Given the description of an element on the screen output the (x, y) to click on. 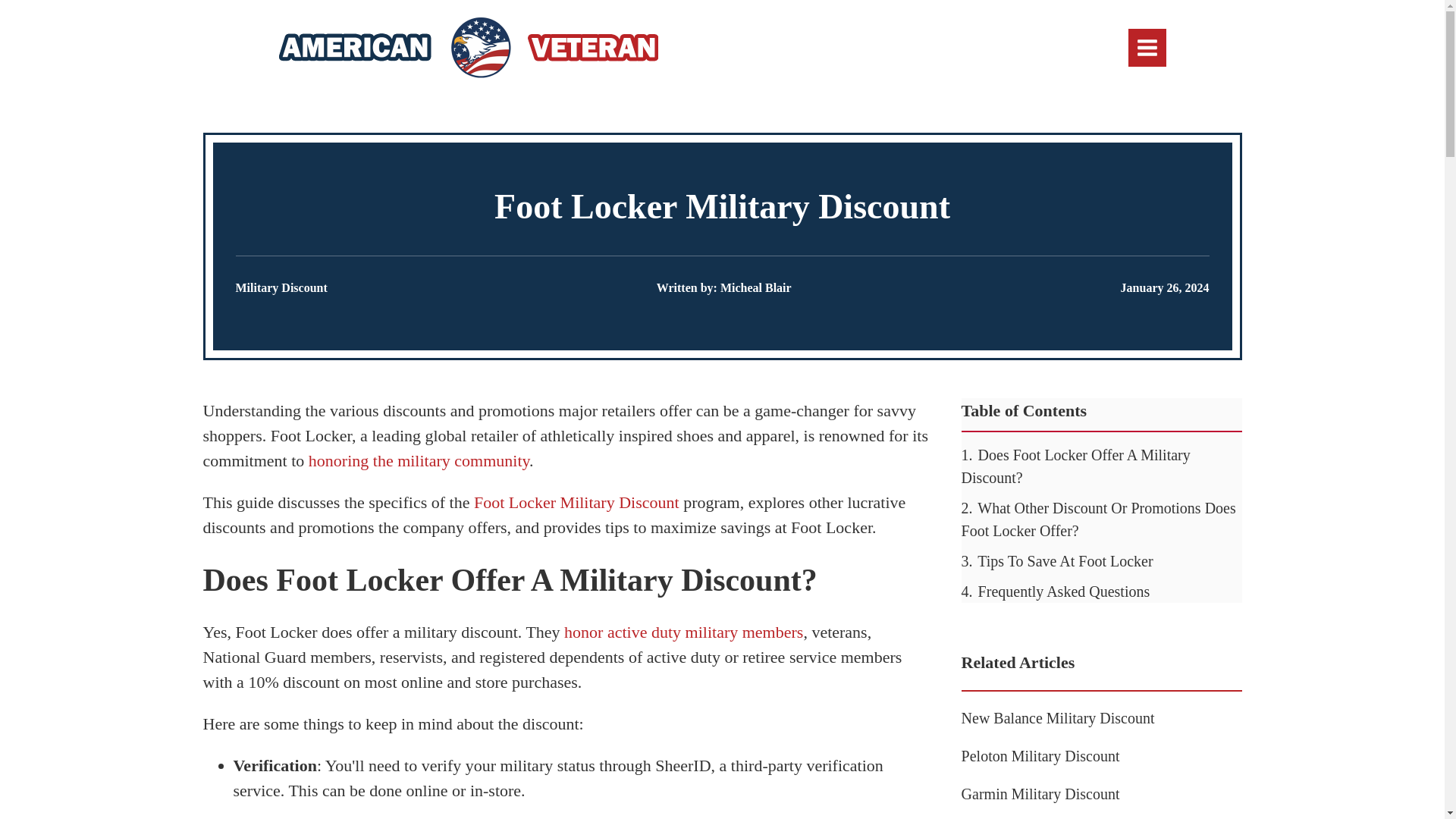
Peloton Military Discount (1039, 755)
4. Frequently Asked Questions (1055, 591)
honor active duty military members (683, 631)
Foot Locker Military Discount (576, 502)
Micheal Blair (756, 287)
honoring the military community (418, 460)
2. What Other Discount Or Promotions Does Foot Locker Offer? (1098, 518)
1. Does Foot Locker Offer A Military Discount? (1075, 466)
Garmin Military Discount (1039, 793)
3. Tips To Save At Foot Locker (1056, 560)
Military Discount (280, 287)
New Balance Military Discount (1057, 718)
